Given the description of an element on the screen output the (x, y) to click on. 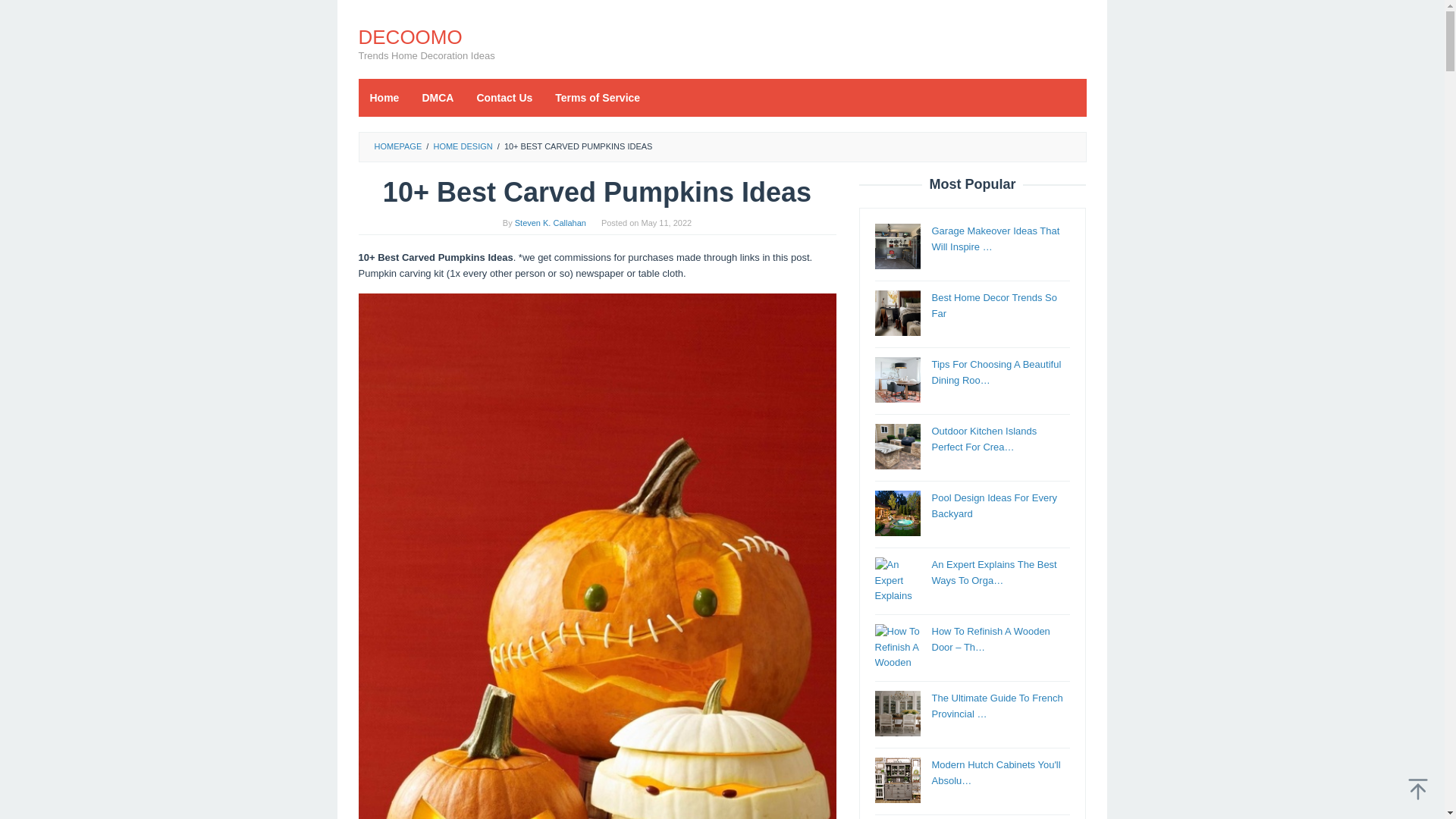
DECOOMO (409, 36)
Best Home Decor Trends So Far (897, 312)
HOMEPAGE (398, 145)
Permalink to: Steven K. Callahan (550, 222)
Contact Us (503, 97)
Terms of Service (596, 97)
Permalink to: Best Home Decor Trends So Far (994, 305)
Pool Design Ideas For Every Backyard (994, 505)
Steven K. Callahan (550, 222)
Best Home Decor Trends So Far (994, 305)
Garage Makeover Ideas That Will Inspire You To Get Organized (897, 246)
DMCA (437, 97)
Home (384, 97)
DECOOMO (409, 36)
